Given the description of an element on the screen output the (x, y) to click on. 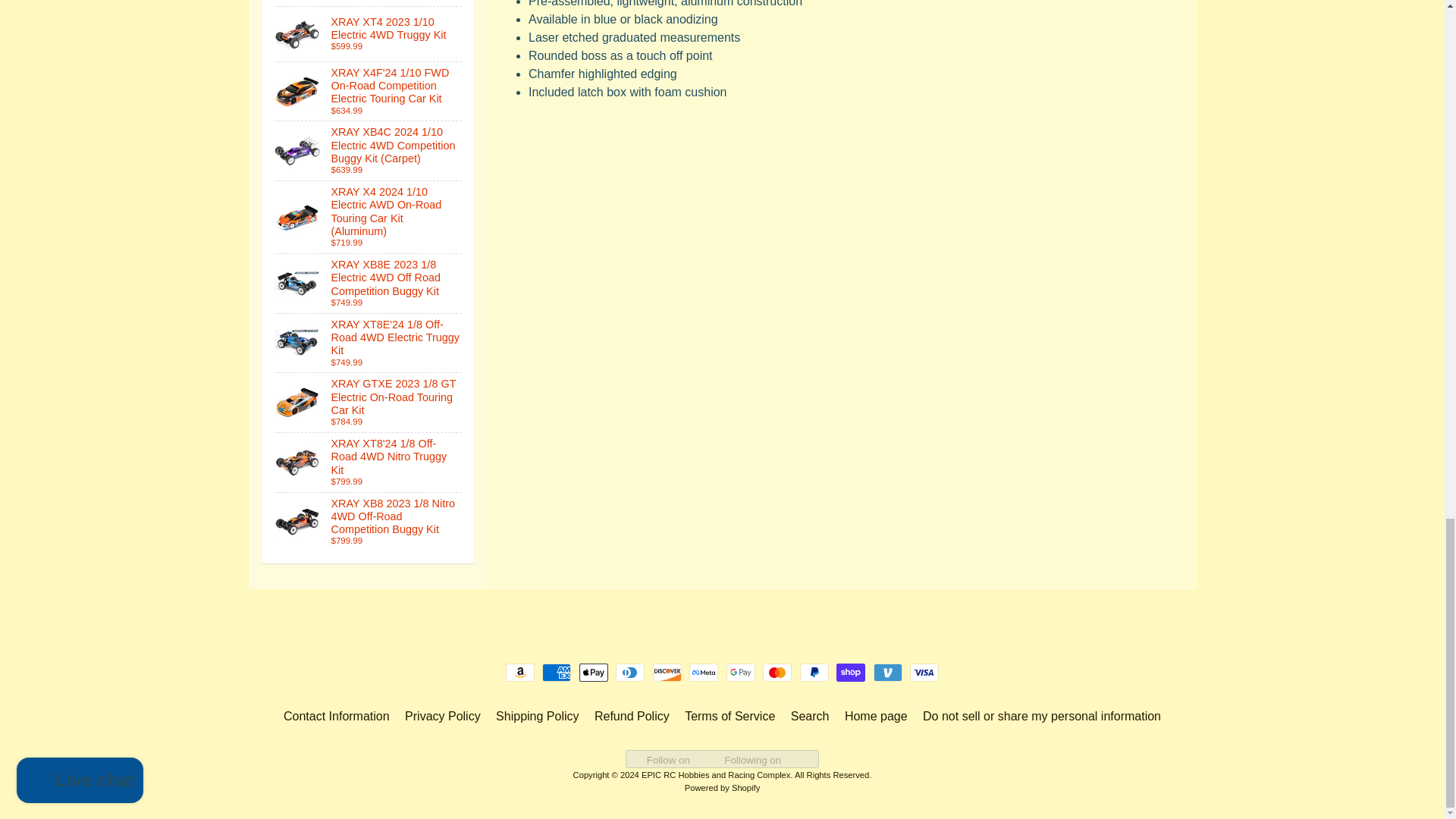
Meta Pay (702, 672)
Visa (924, 672)
PayPal (813, 672)
Amazon (519, 672)
Mastercard (777, 672)
Shop Pay (849, 672)
Discover (666, 672)
Google Pay (740, 672)
American Express (555, 672)
Venmo (887, 672)
Diners Club (630, 672)
Apple Pay (593, 672)
